Given the description of an element on the screen output the (x, y) to click on. 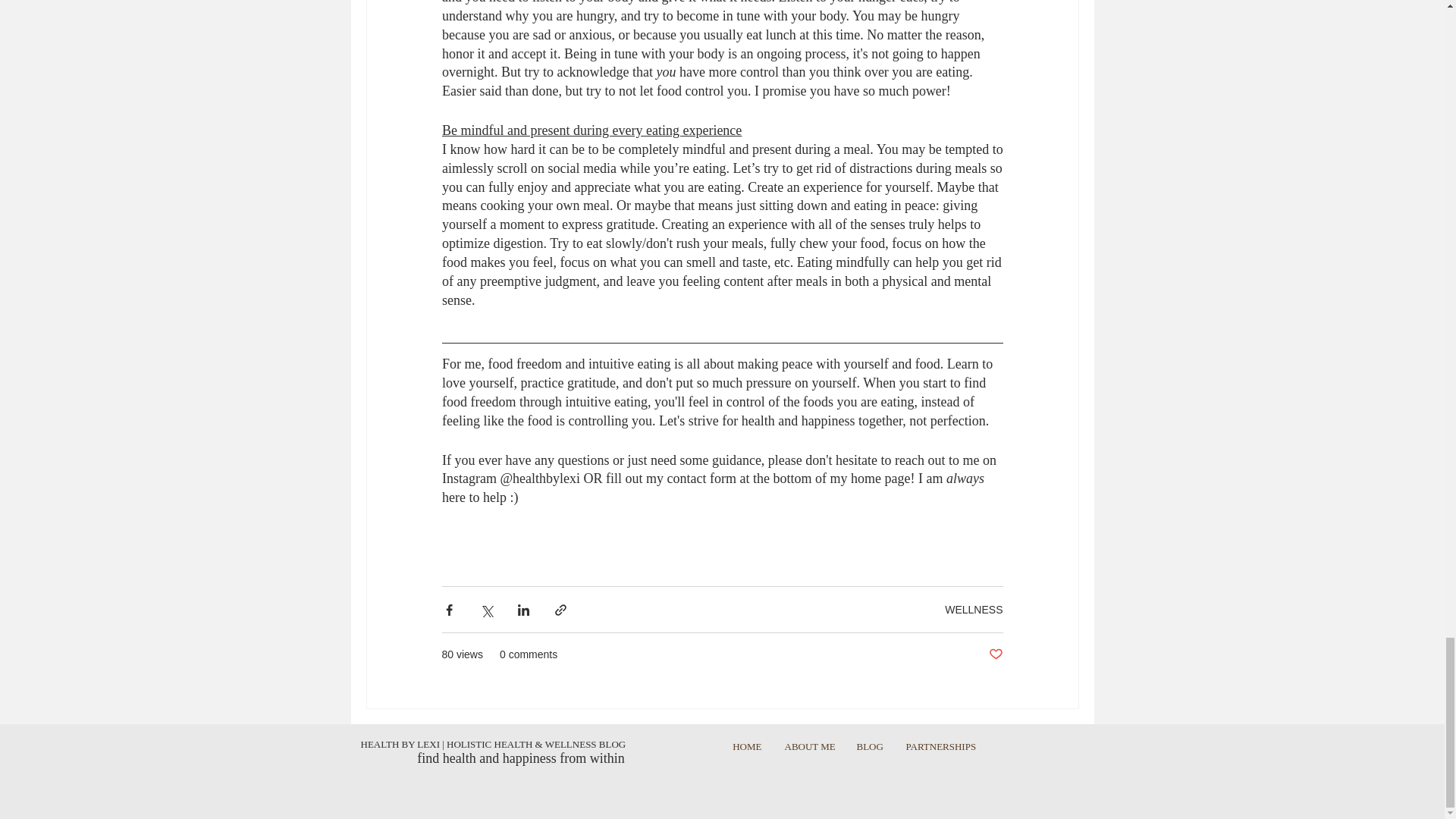
BLOG (868, 746)
WELLNESS (973, 609)
PARTNERSHIPS (941, 746)
ABOUT ME (809, 746)
Post not marked as liked (995, 654)
HOME (746, 746)
